Given the description of an element on the screen output the (x, y) to click on. 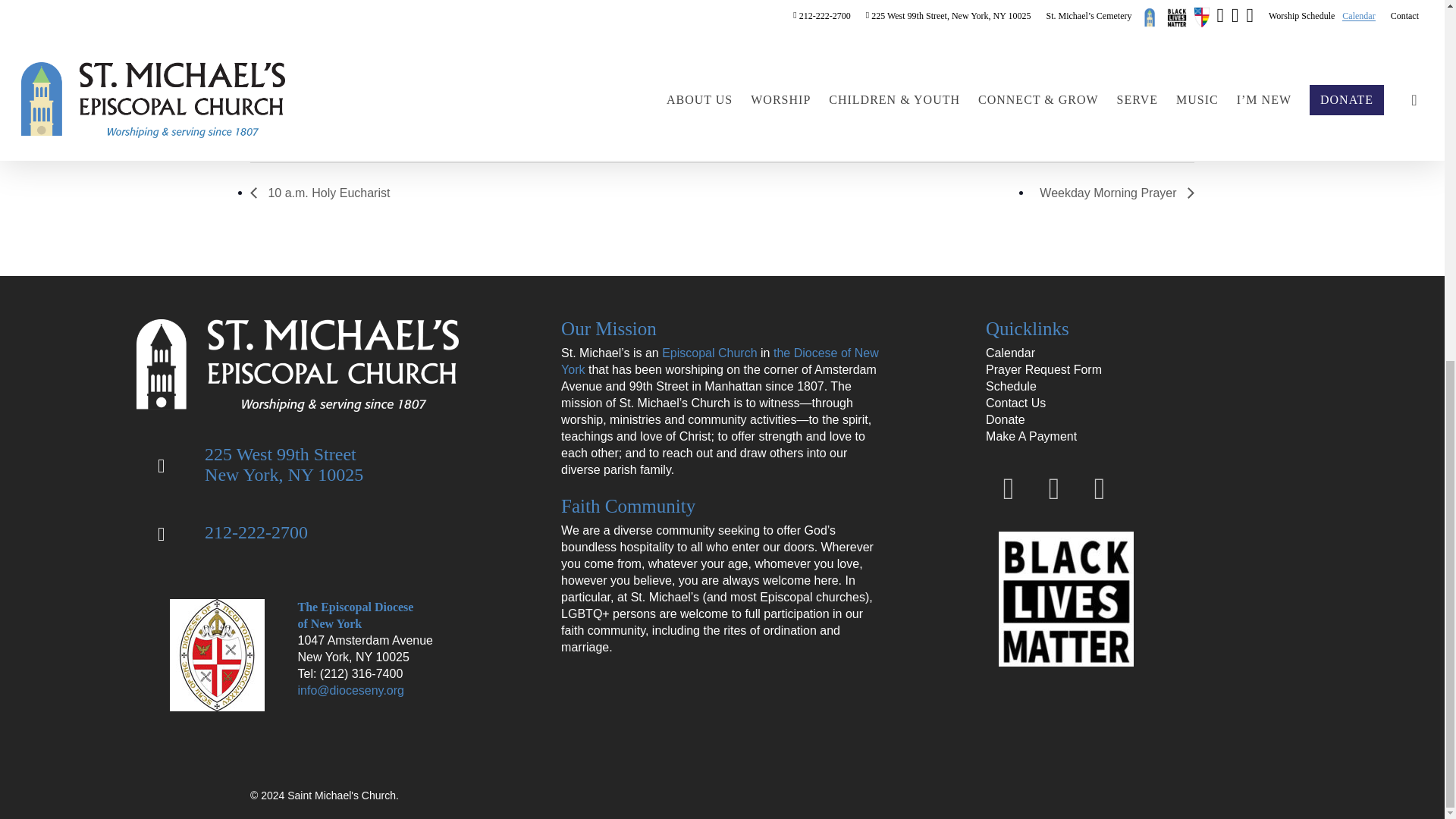
2022-09-25 (313, 138)
2022-09-25 (298, 89)
